Given the description of an element on the screen output the (x, y) to click on. 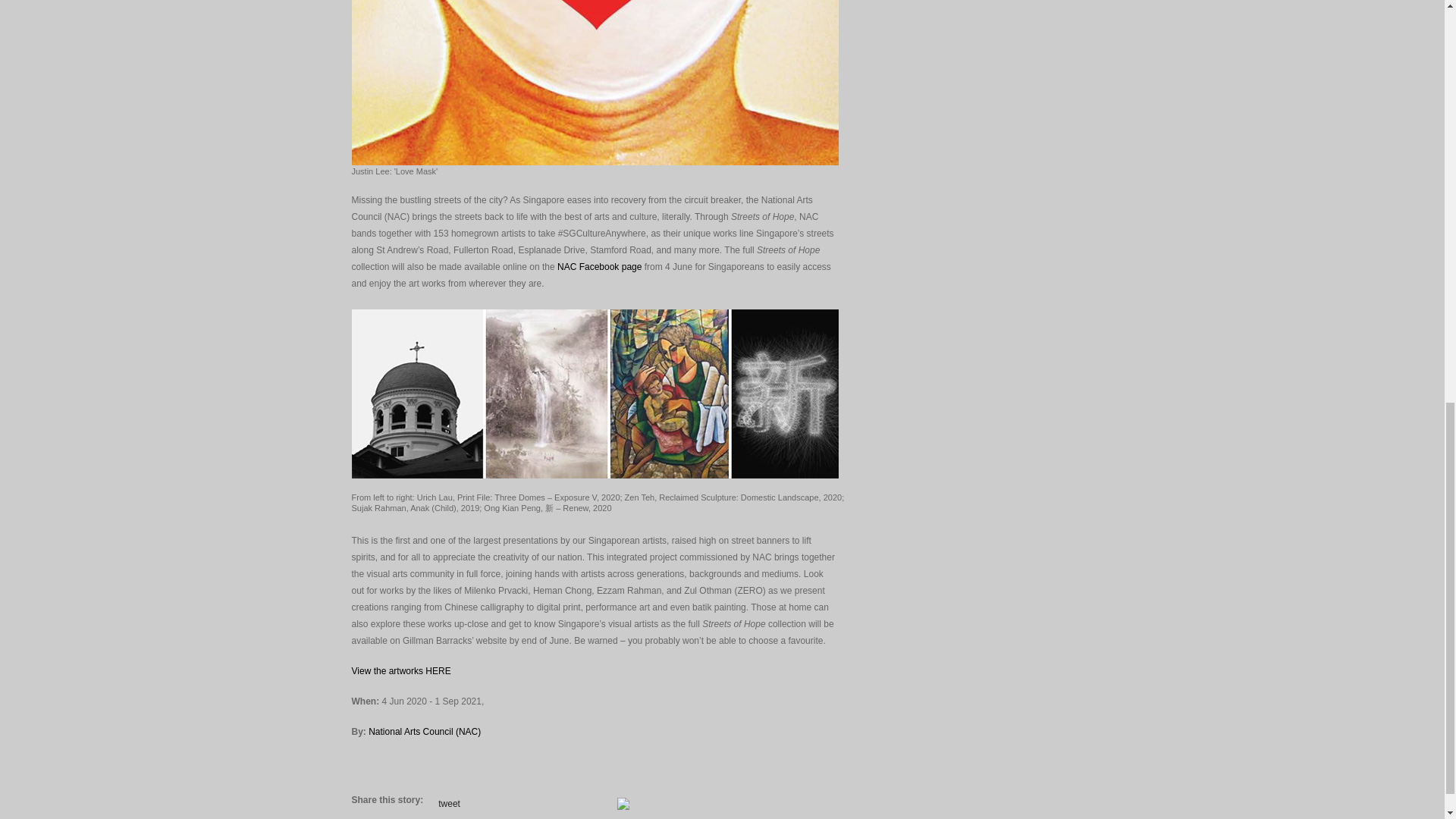
View the artworks HERE (401, 670)
tweet (449, 803)
NAC Facebook page (599, 266)
